Given the description of an element on the screen output the (x, y) to click on. 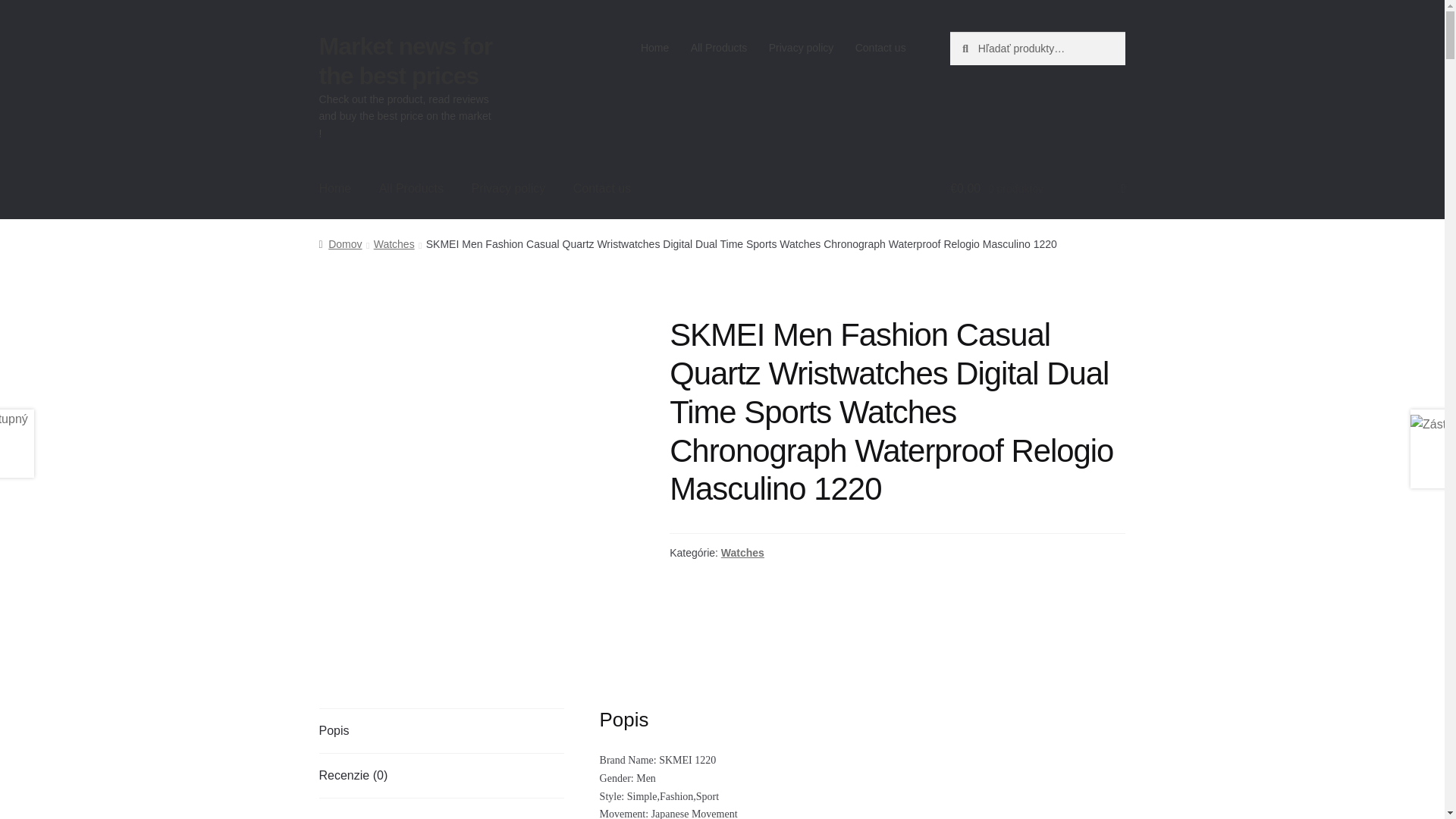
Privacy policy (800, 47)
All Products (718, 47)
Contact us (879, 47)
Watches (742, 552)
Privacy policy (507, 188)
Popis (441, 730)
Market news for the best prices (405, 60)
Domov (340, 244)
Contact us (601, 188)
Home (654, 47)
All Products (410, 188)
Home (335, 188)
Watches (394, 244)
